Given the description of an element on the screen output the (x, y) to click on. 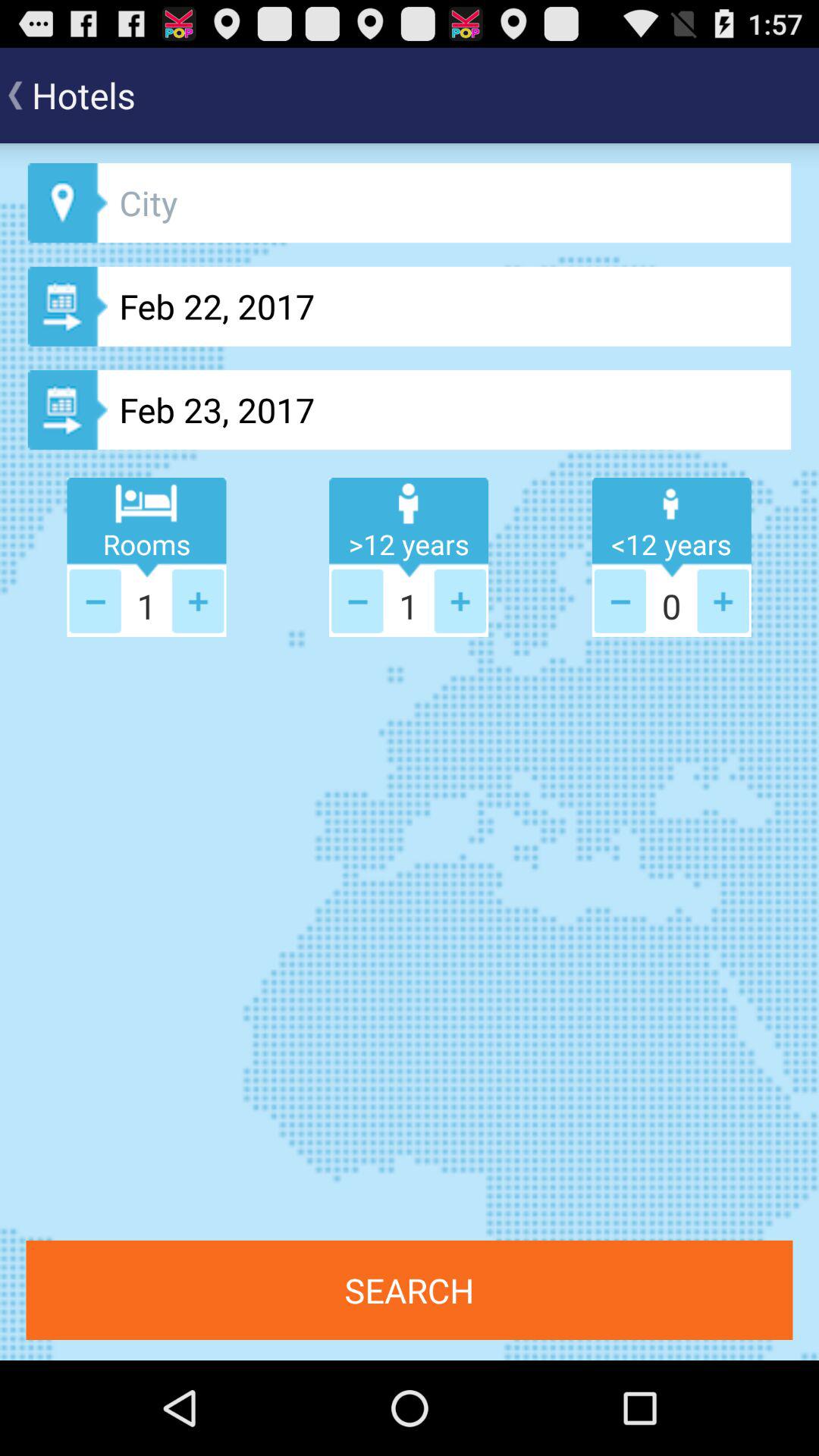
add page (620, 601)
